Given the description of an element on the screen output the (x, y) to click on. 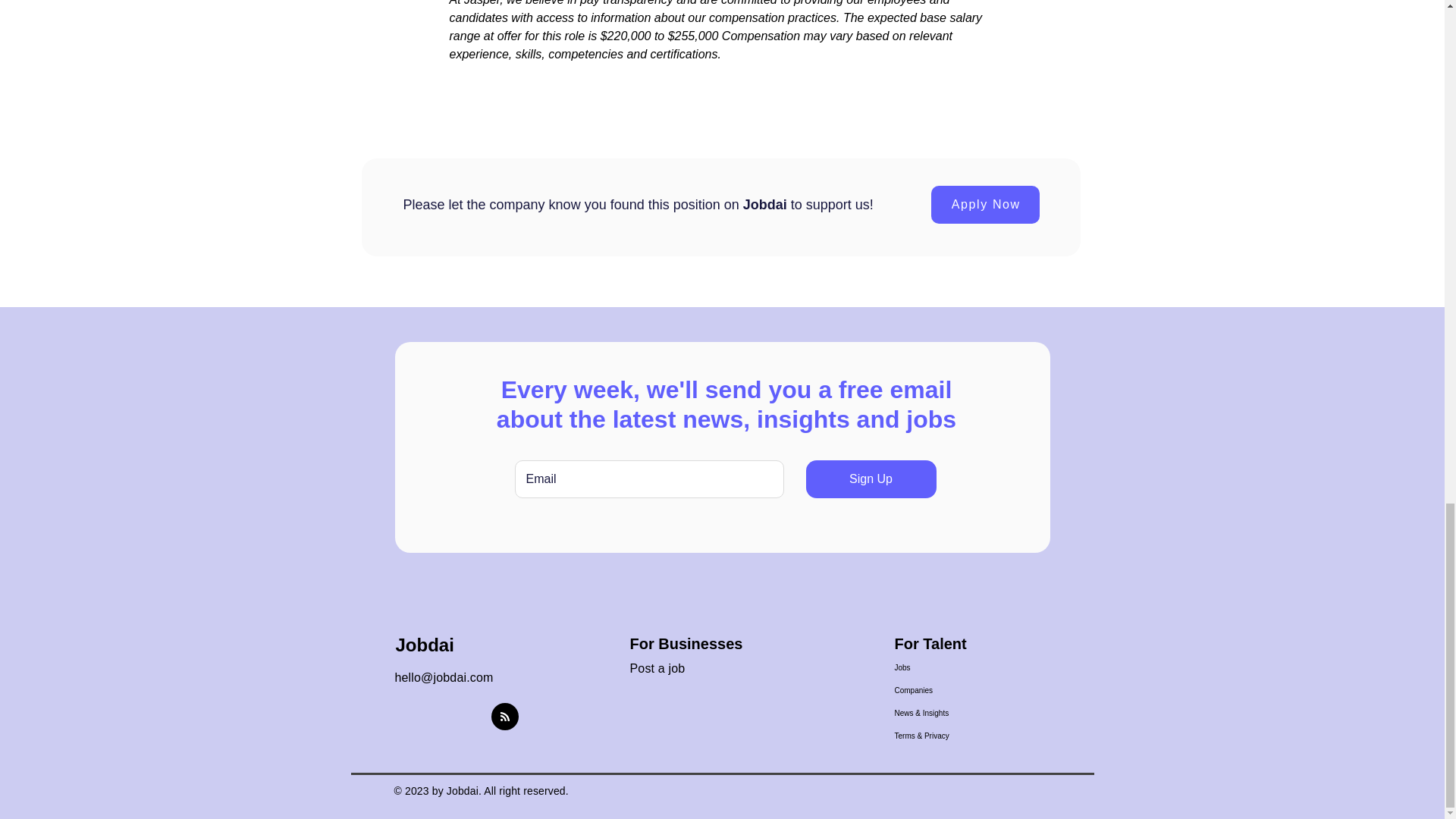
Jobdai (425, 644)
Jobs (948, 667)
Apply Now (985, 204)
Companies (948, 690)
For Businesses (685, 643)
For Talent (930, 643)
Sign Up (870, 478)
Post a job (656, 667)
